Given the description of an element on the screen output the (x, y) to click on. 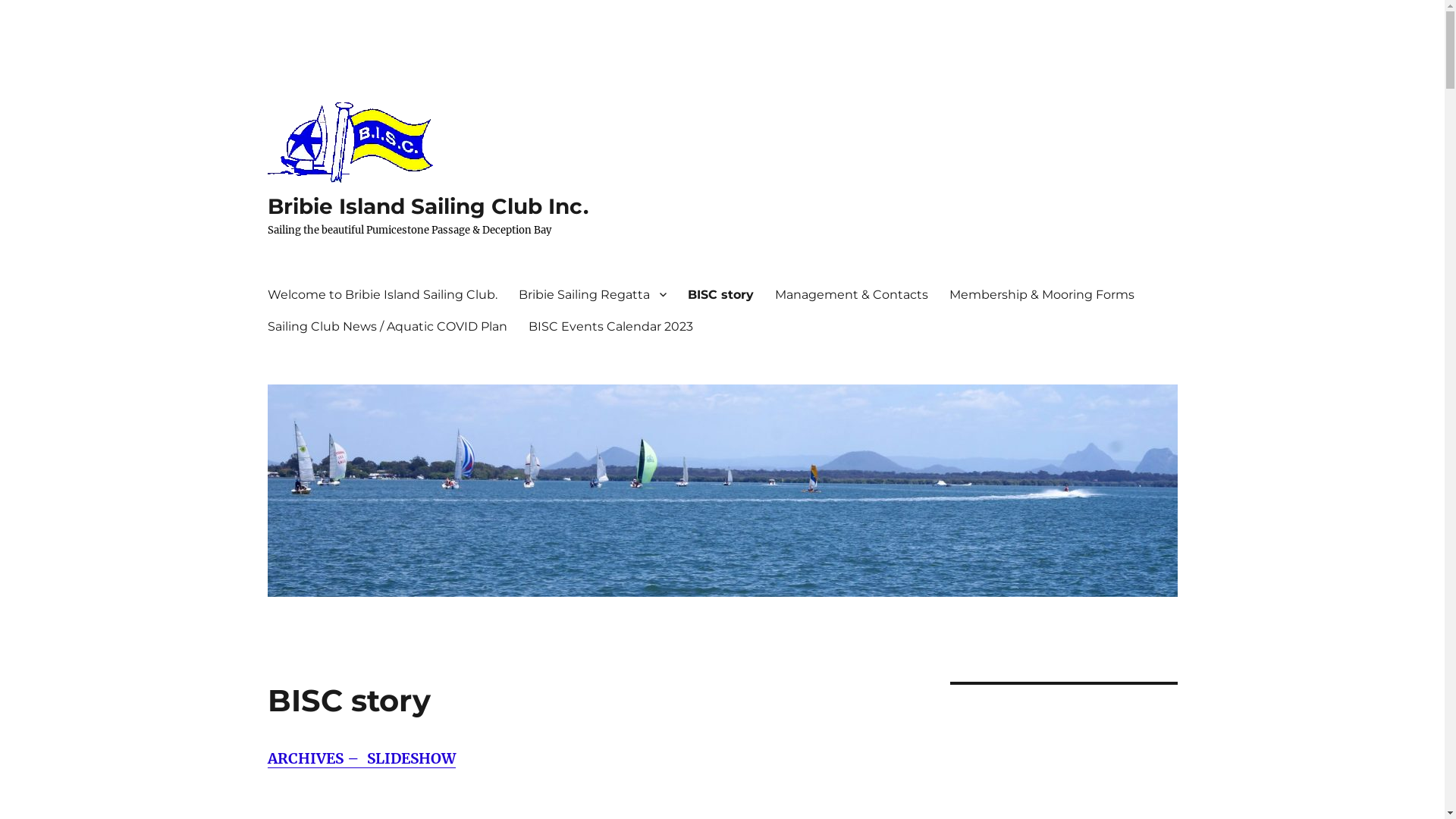
Management & Contacts Element type: text (851, 294)
Membership & Mooring Forms Element type: text (1041, 294)
Bribie Island Sailing Club Inc. Element type: text (426, 206)
Sailing Club News / Aquatic COVID Plan Element type: text (386, 326)
BISC story Element type: text (719, 294)
Welcome to Bribie Island Sailing Club. Element type: text (381, 294)
Bribie Sailing Regatta Element type: text (592, 294)
BISC Events Calendar 2023 Element type: text (609, 326)
